Given the description of an element on the screen output the (x, y) to click on. 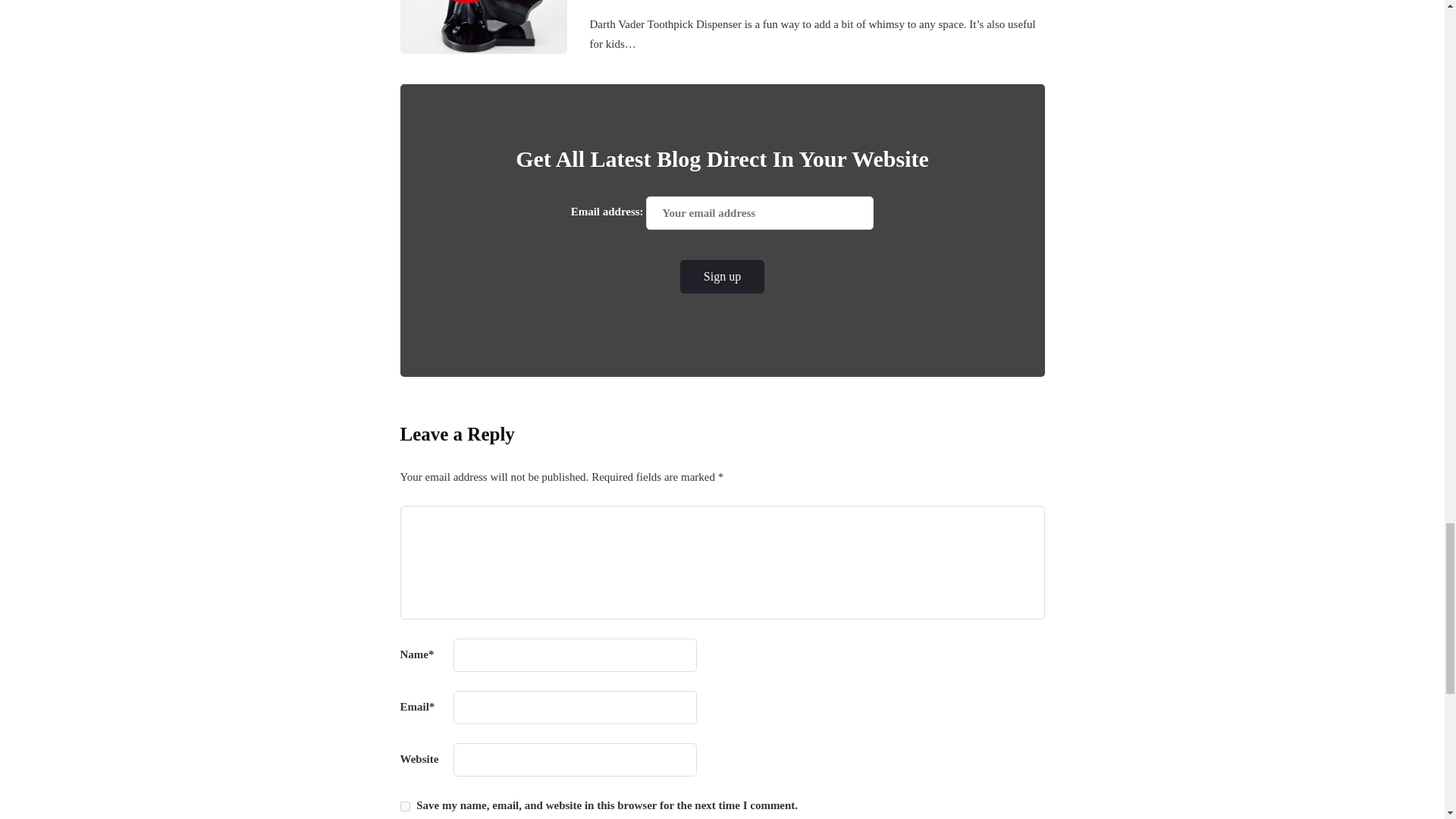
yes (405, 806)
Sign up (721, 276)
